Given the description of an element on the screen output the (x, y) to click on. 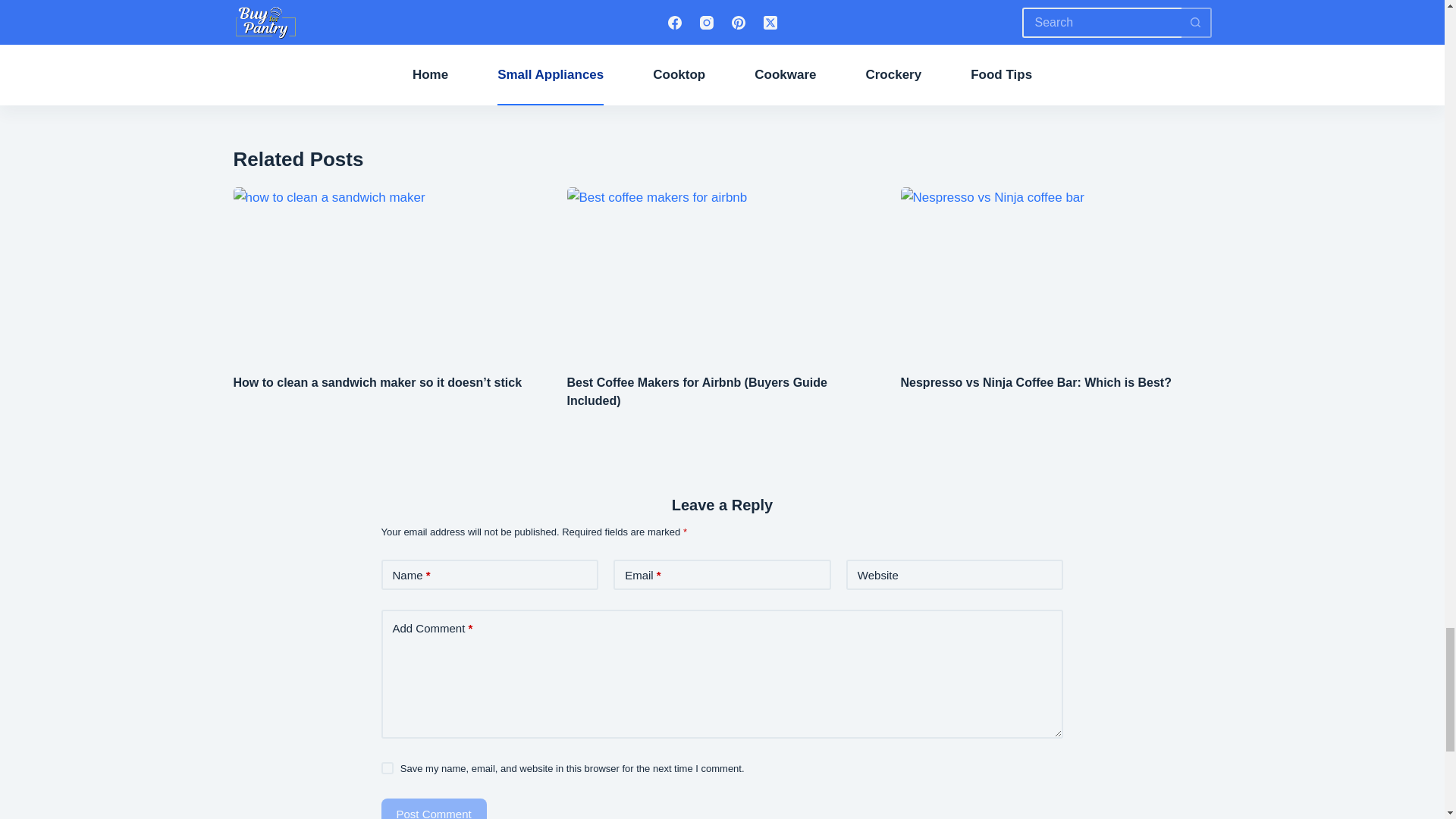
yes (736, 15)
